Given the description of an element on the screen output the (x, y) to click on. 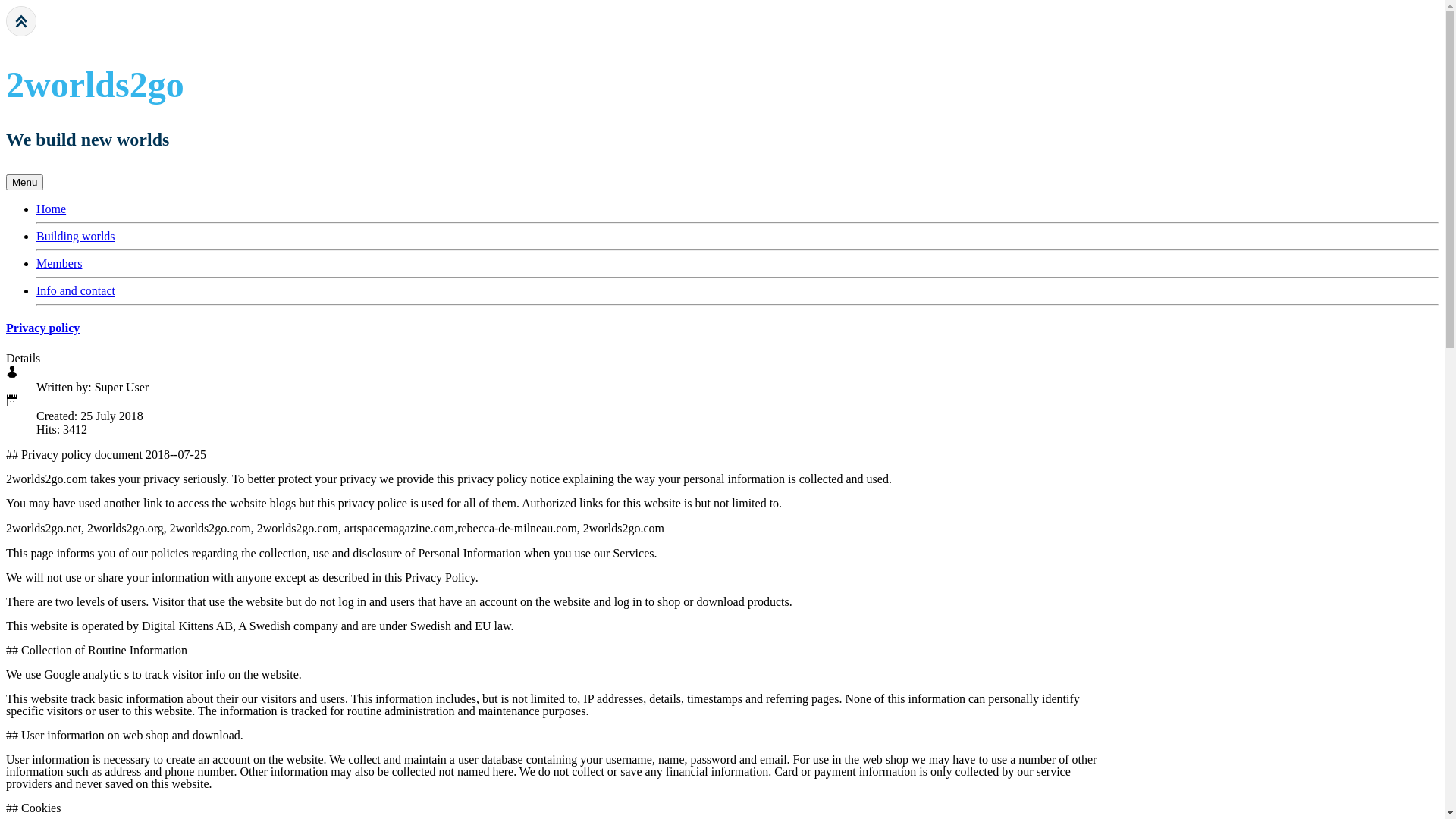
Members Element type: text (58, 263)
Building worlds Element type: text (75, 235)
Info and contact Element type: text (75, 290)
Privacy policy Element type: text (42, 327)
Home Element type: text (50, 208)
Menu Element type: text (24, 182)
